Given the description of an element on the screen output the (x, y) to click on. 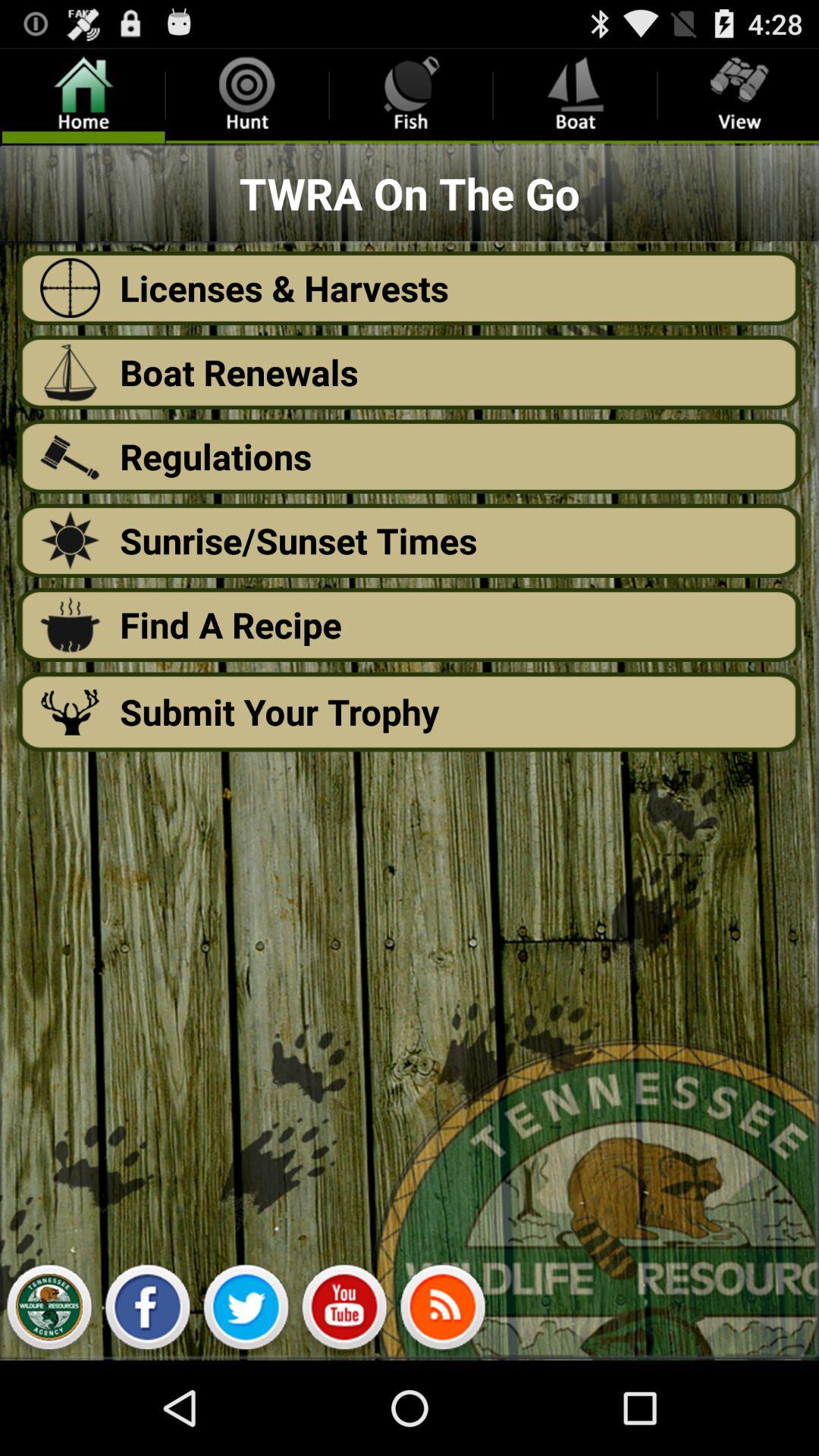
turn off item below the submit your trophy (147, 1311)
